Given the description of an element on the screen output the (x, y) to click on. 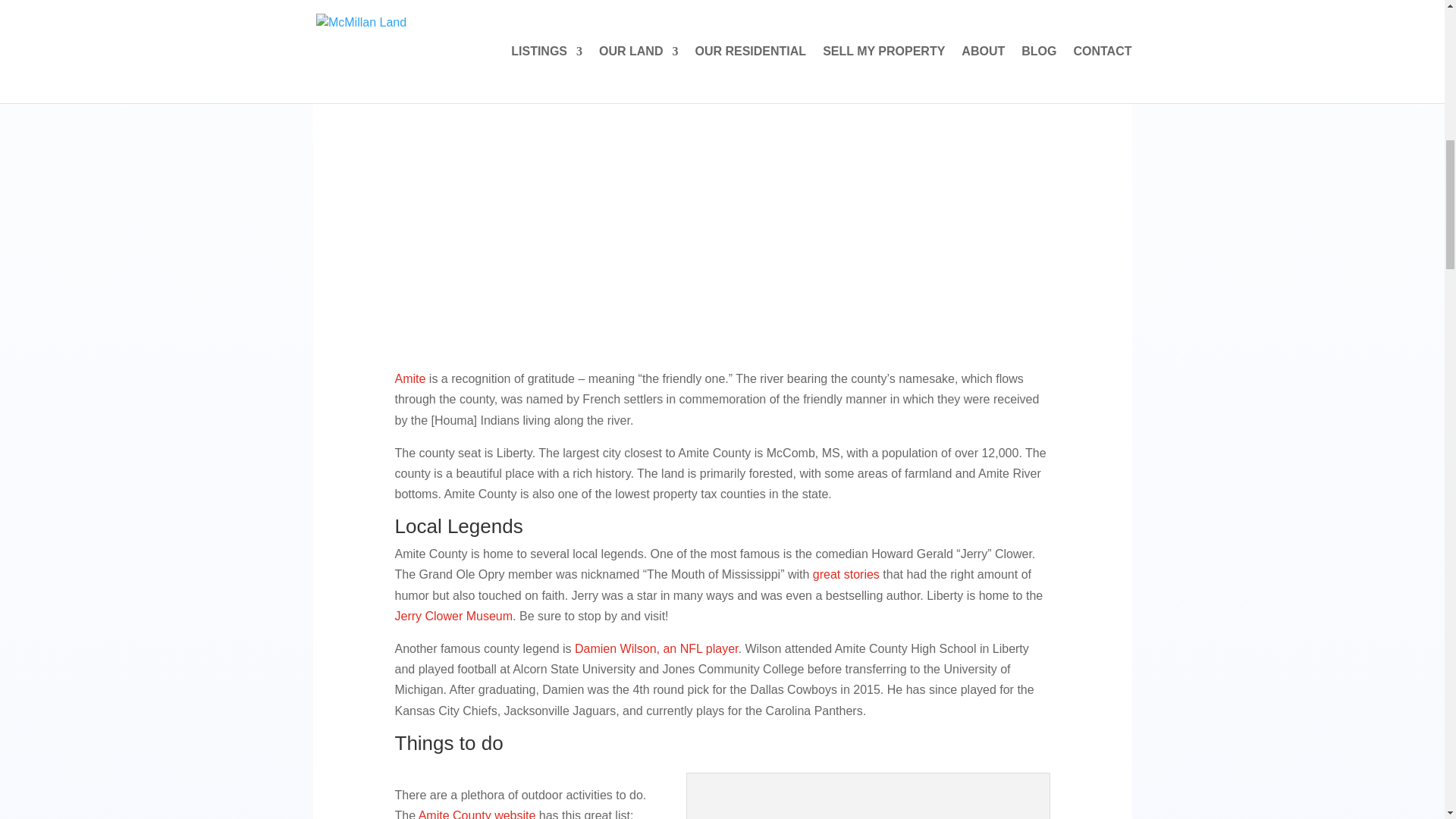
Jerry Clower Museum (453, 615)
Amite (409, 378)
Amite County website (477, 814)
Damien Wilson, an NFL player (656, 648)
great stories (845, 574)
